Given the description of an element on the screen output the (x, y) to click on. 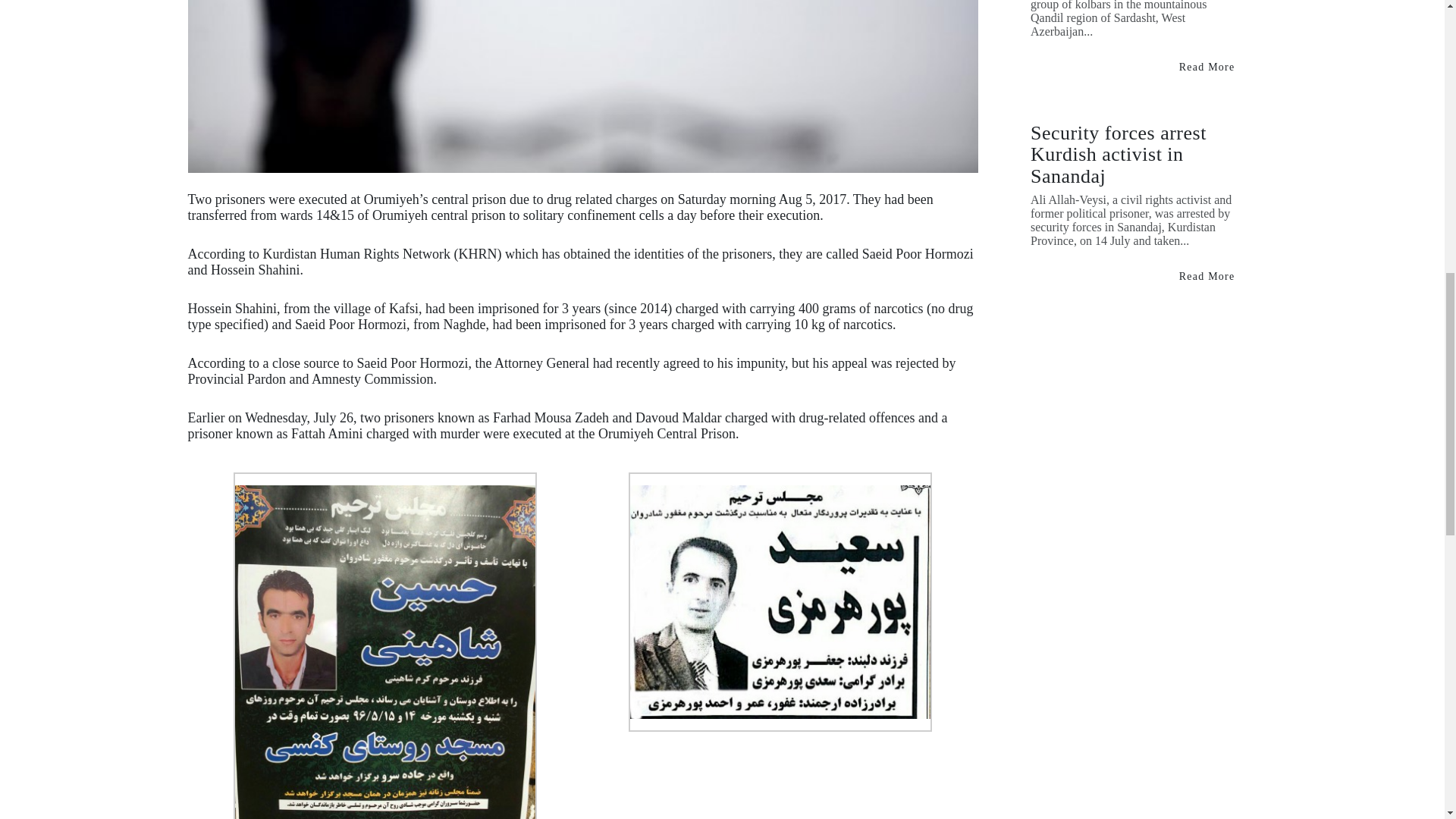
IRGC shooting in Sardasht kills young kolbar, injures two (1206, 66)
Security forces arrest Kurdish activist in Sanandaj (1206, 276)
